Given the description of an element on the screen output the (x, y) to click on. 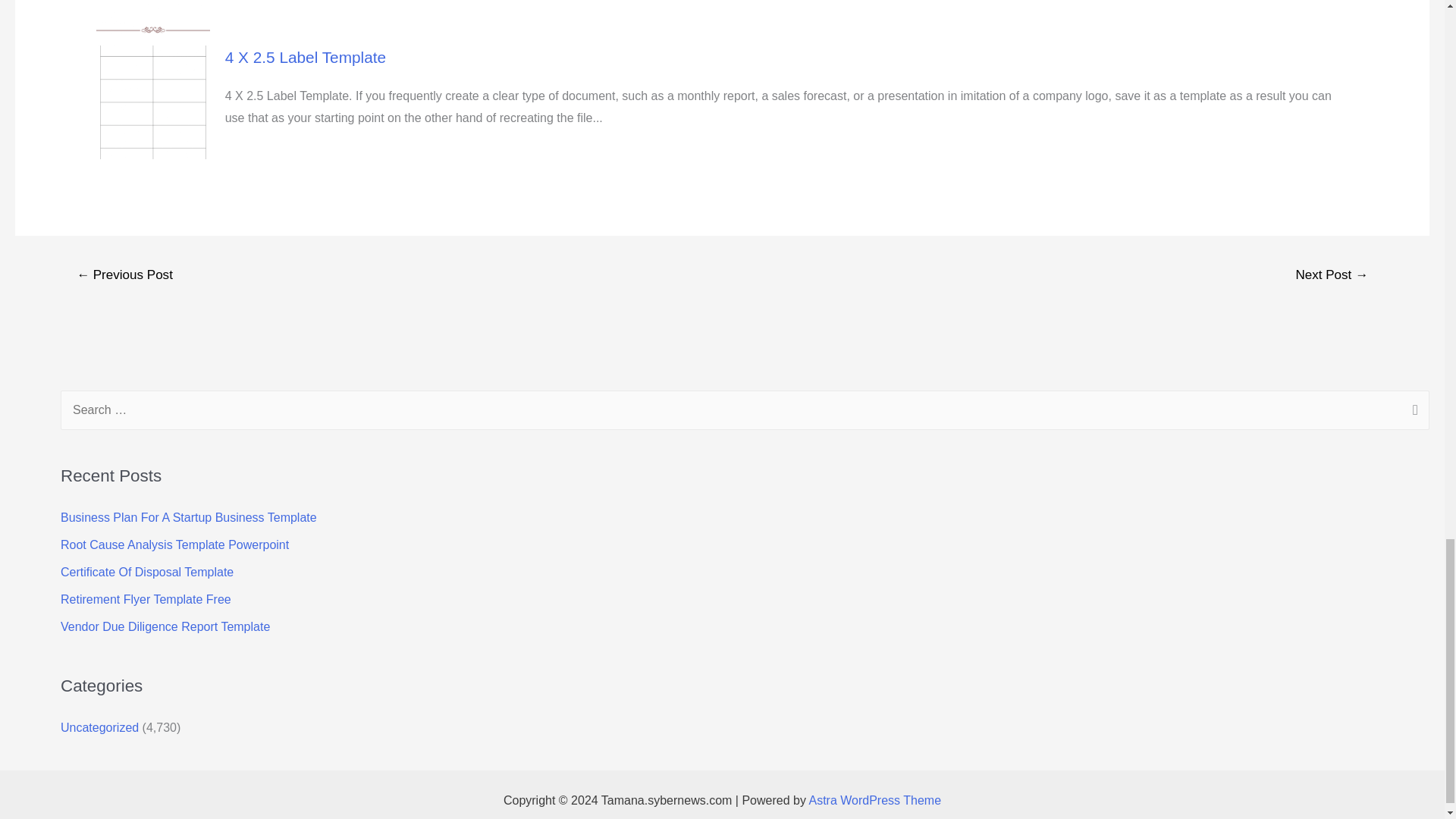
Search (1411, 411)
Vendor Due Diligence Report Template (165, 626)
Astra WordPress Theme (874, 799)
4 X 2.5 Label Template (305, 57)
Business Plan For A Startup Business Template (189, 517)
Uncategorized (99, 727)
Search (1411, 411)
Retirement Flyer Template Free (146, 599)
Root Cause Analysis Template Powerpoint (174, 544)
Search (1411, 411)
Certificate Of Disposal Template (146, 571)
